Given the description of an element on the screen output the (x, y) to click on. 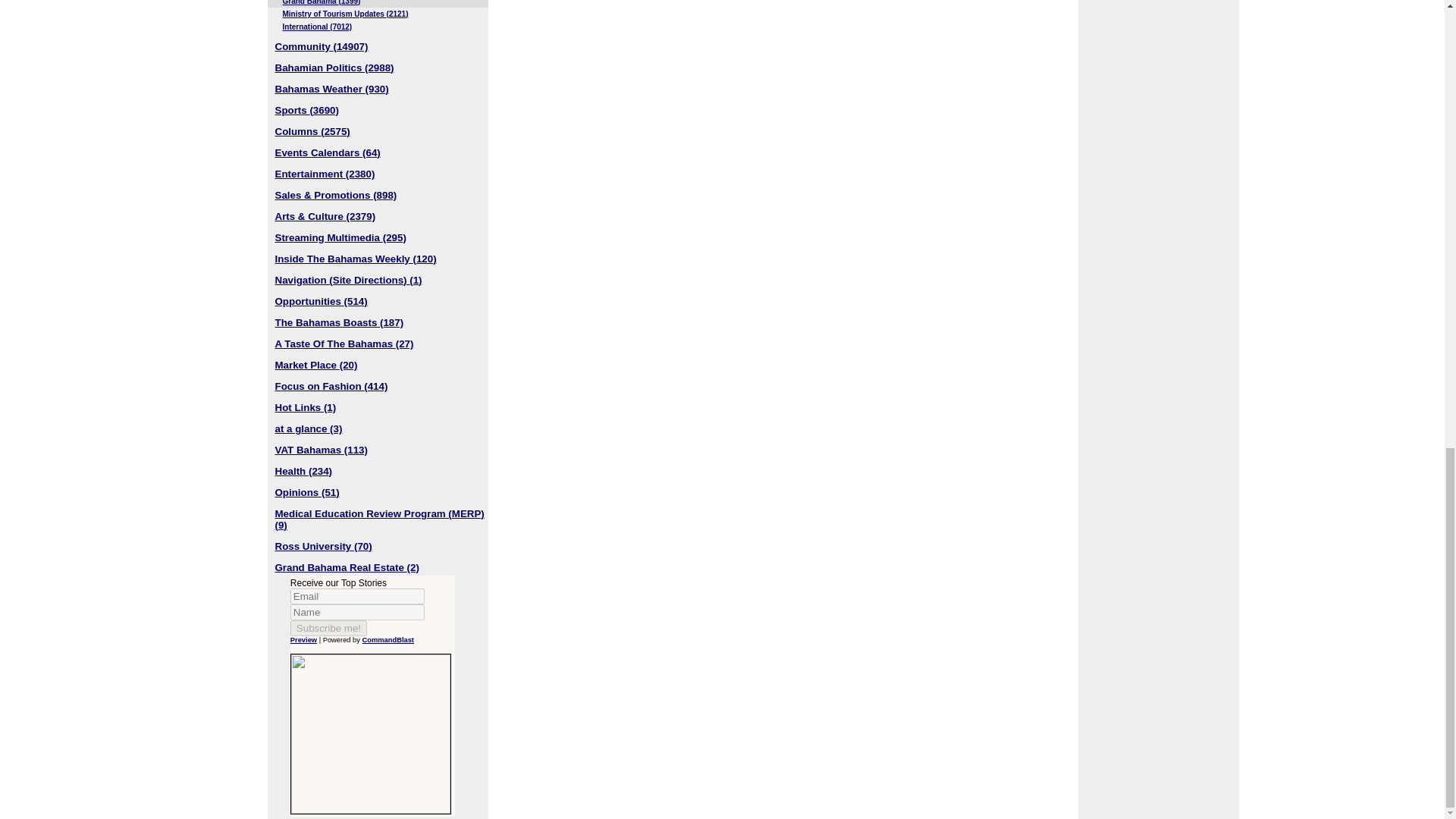
Subscribe me! (327, 627)
